Given the description of an element on the screen output the (x, y) to click on. 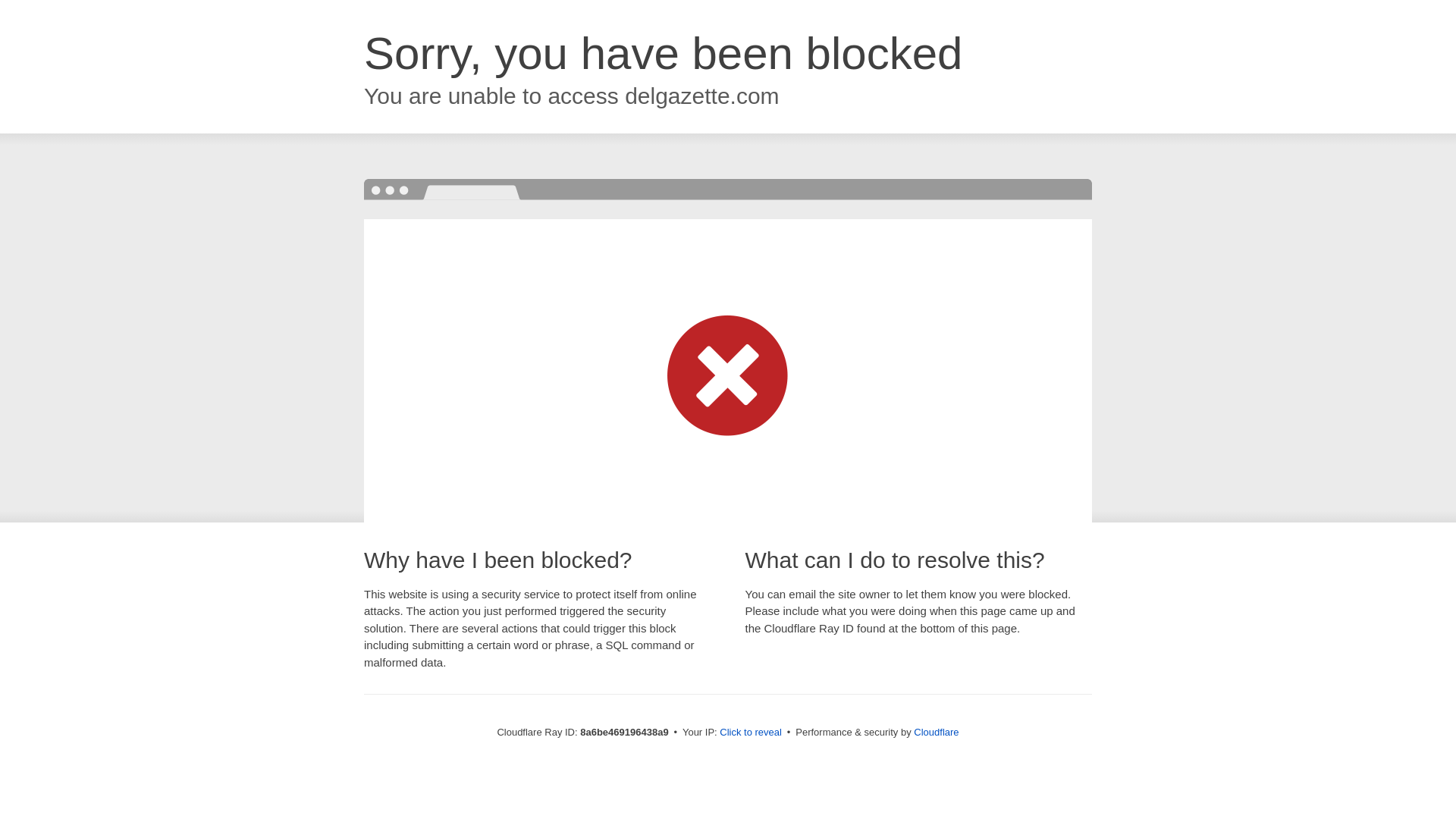
Cloudflare (936, 731)
Click to reveal (750, 732)
